Given the description of an element on the screen output the (x, y) to click on. 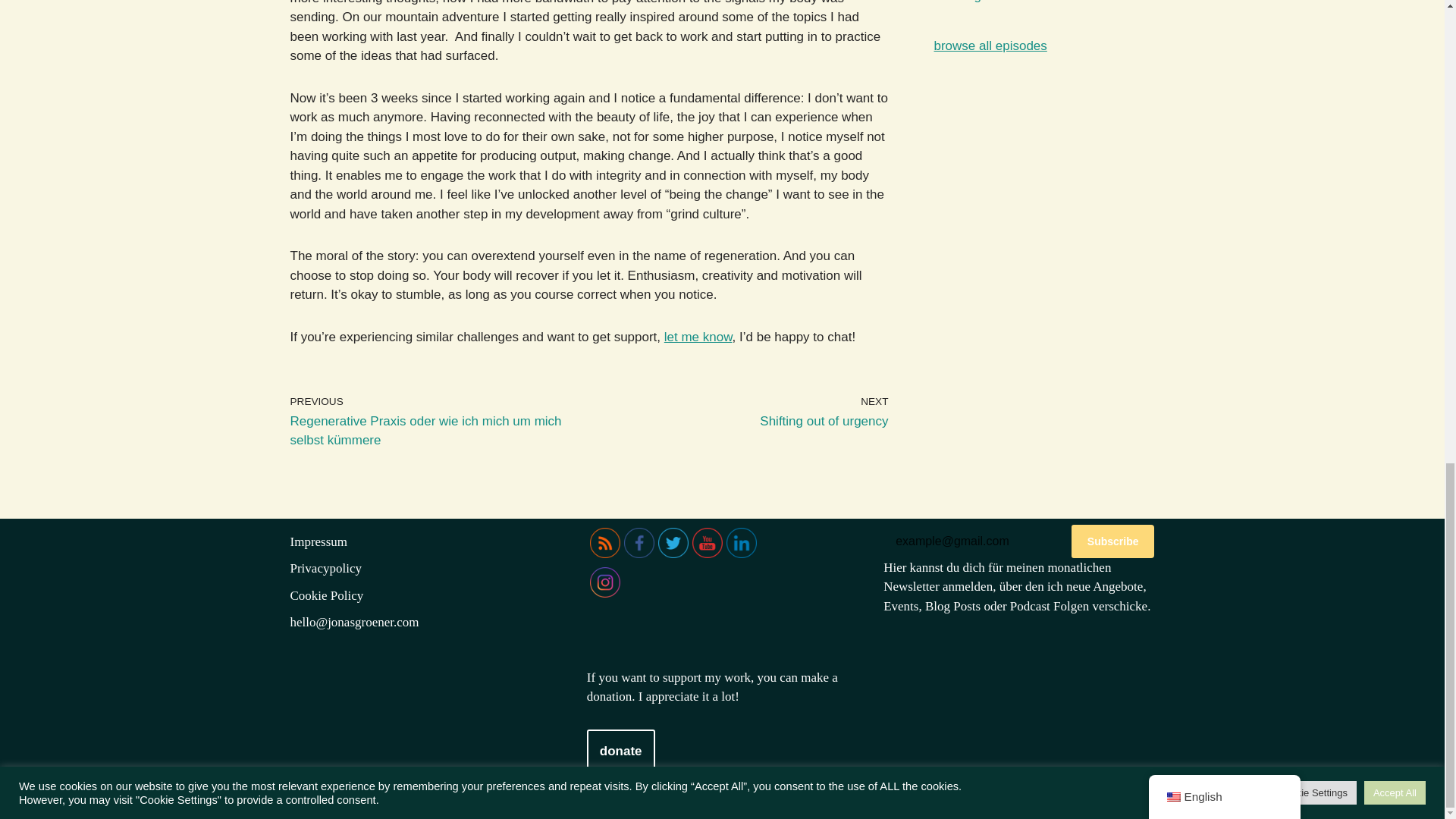
let me know (697, 336)
Twitter (673, 542)
Facebook (638, 542)
LinkedIn (741, 542)
YouTube (707, 542)
Instagram (742, 411)
RSS (604, 582)
